Given the description of an element on the screen output the (x, y) to click on. 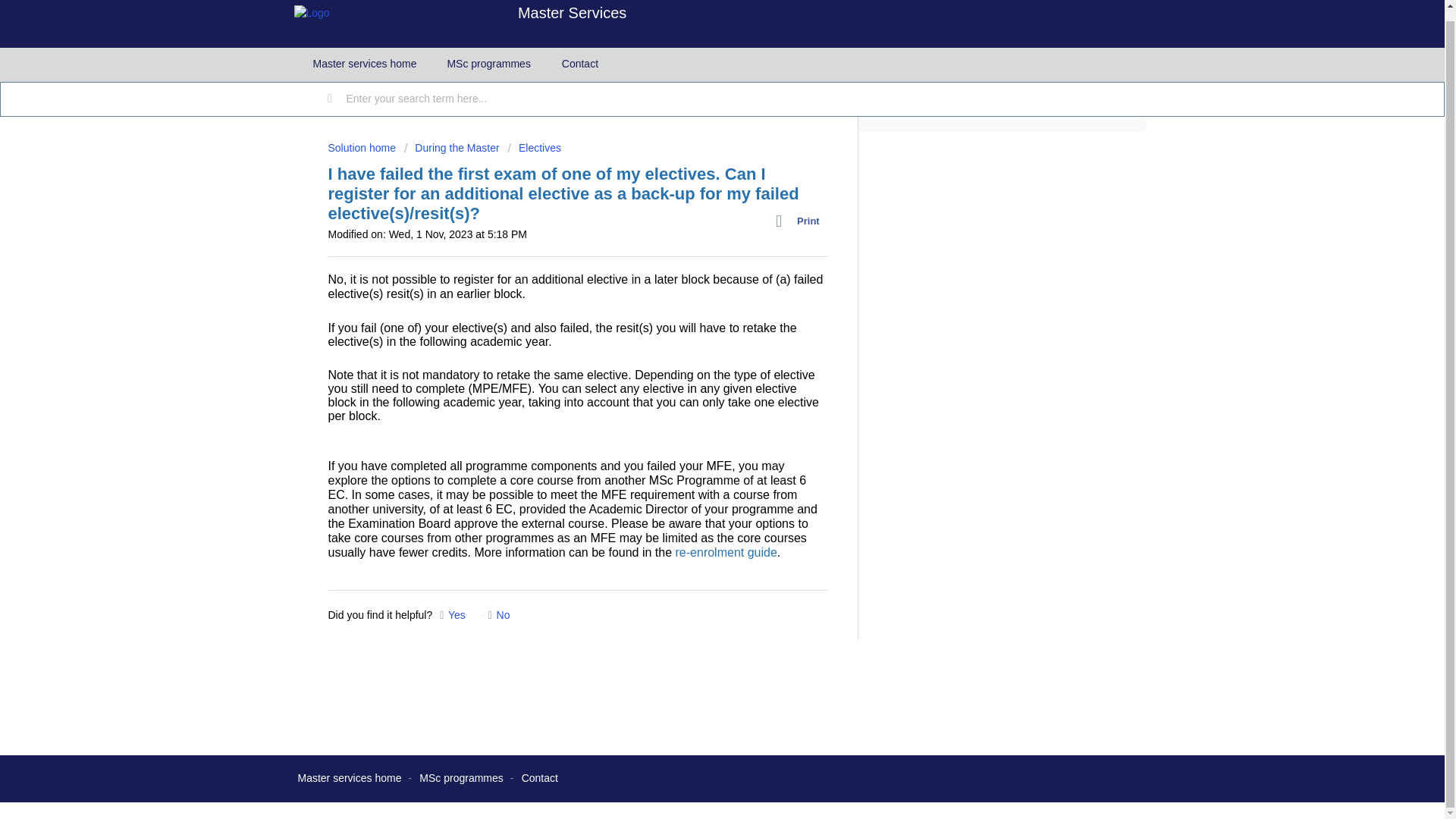
During the Master (451, 147)
Print (801, 220)
Master services home (349, 777)
Solution home (362, 147)
Contact (539, 777)
Contact (580, 63)
Master services home (363, 63)
MSc programmes (460, 777)
re-enrolment guide (726, 552)
MSc programmes (487, 63)
Electives (534, 147)
Print this Article (801, 220)
